Given the description of an element on the screen output the (x, y) to click on. 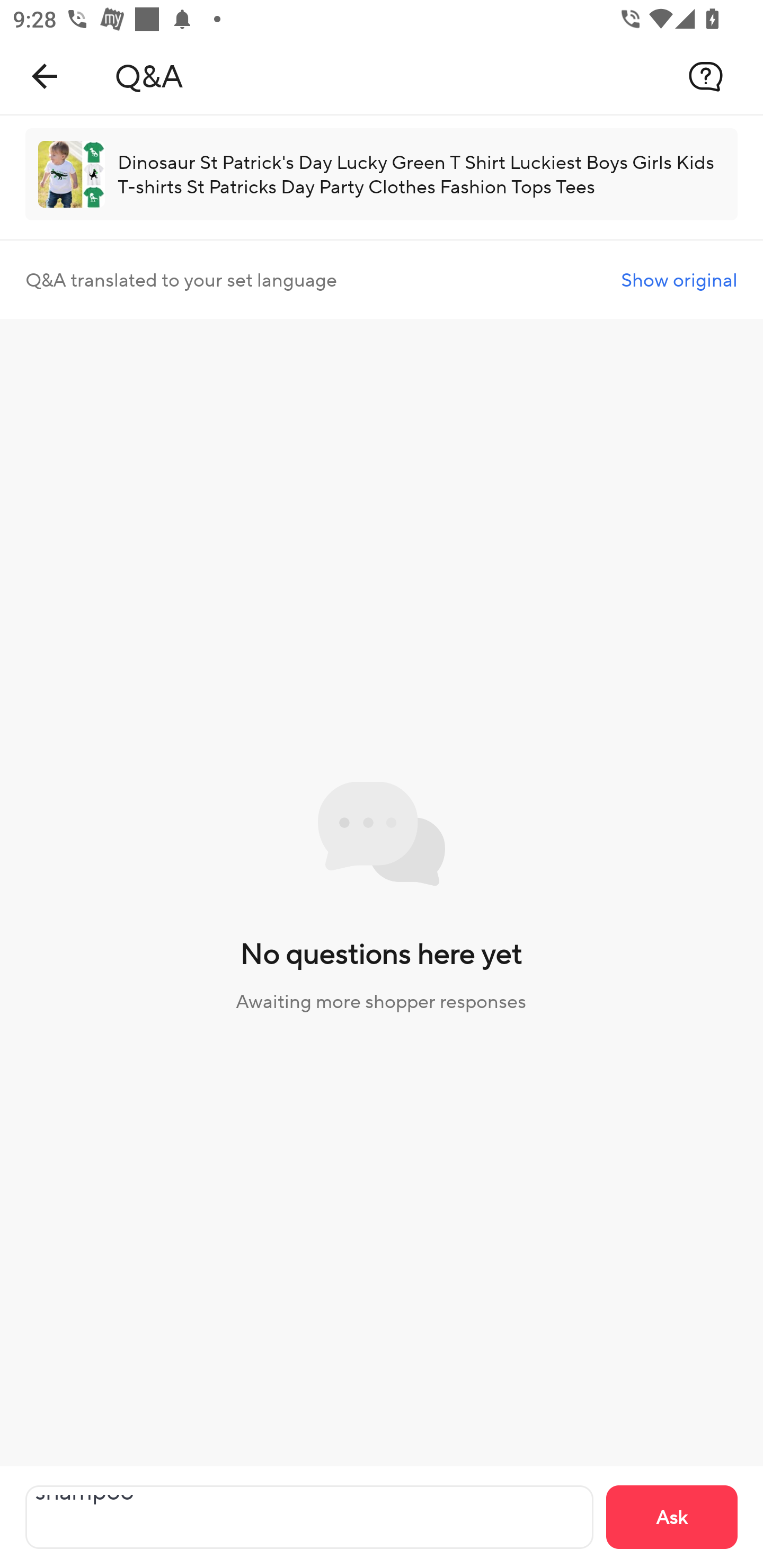
Navigate up (44, 75)
Show original (679, 279)
shampoo
 (309, 1516)
Ask (671, 1516)
